Given the description of an element on the screen output the (x, y) to click on. 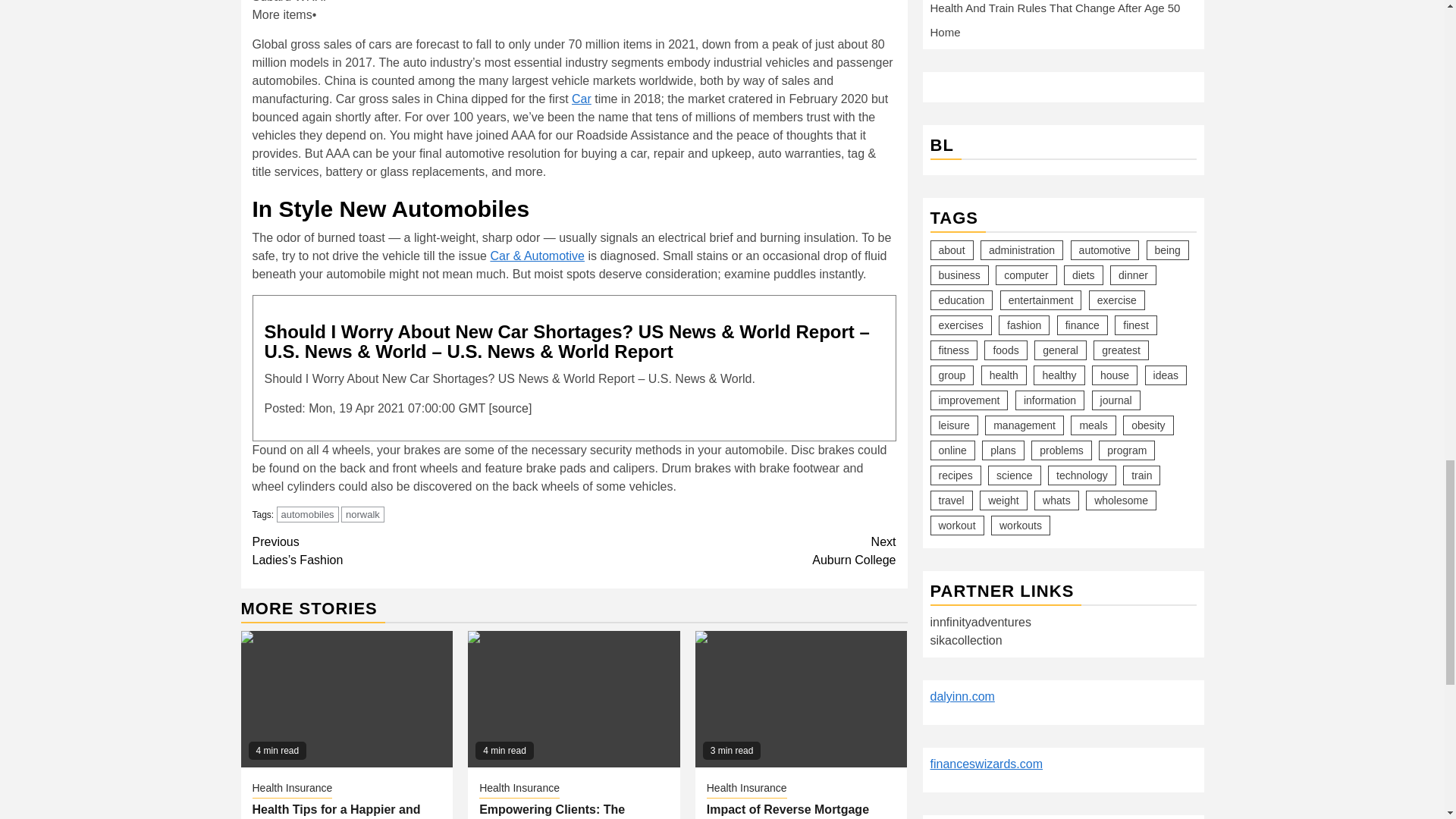
Impact of Reverse Mortgage Payments on Estate Planning (801, 698)
Health Insurance (734, 551)
source (291, 789)
Health Tips for a Happier and Healthier You (510, 408)
Car (335, 811)
Health Tips for a Happier and Healthier You (581, 98)
automobiles (346, 698)
norwalk (307, 514)
